Given the description of an element on the screen output the (x, y) to click on. 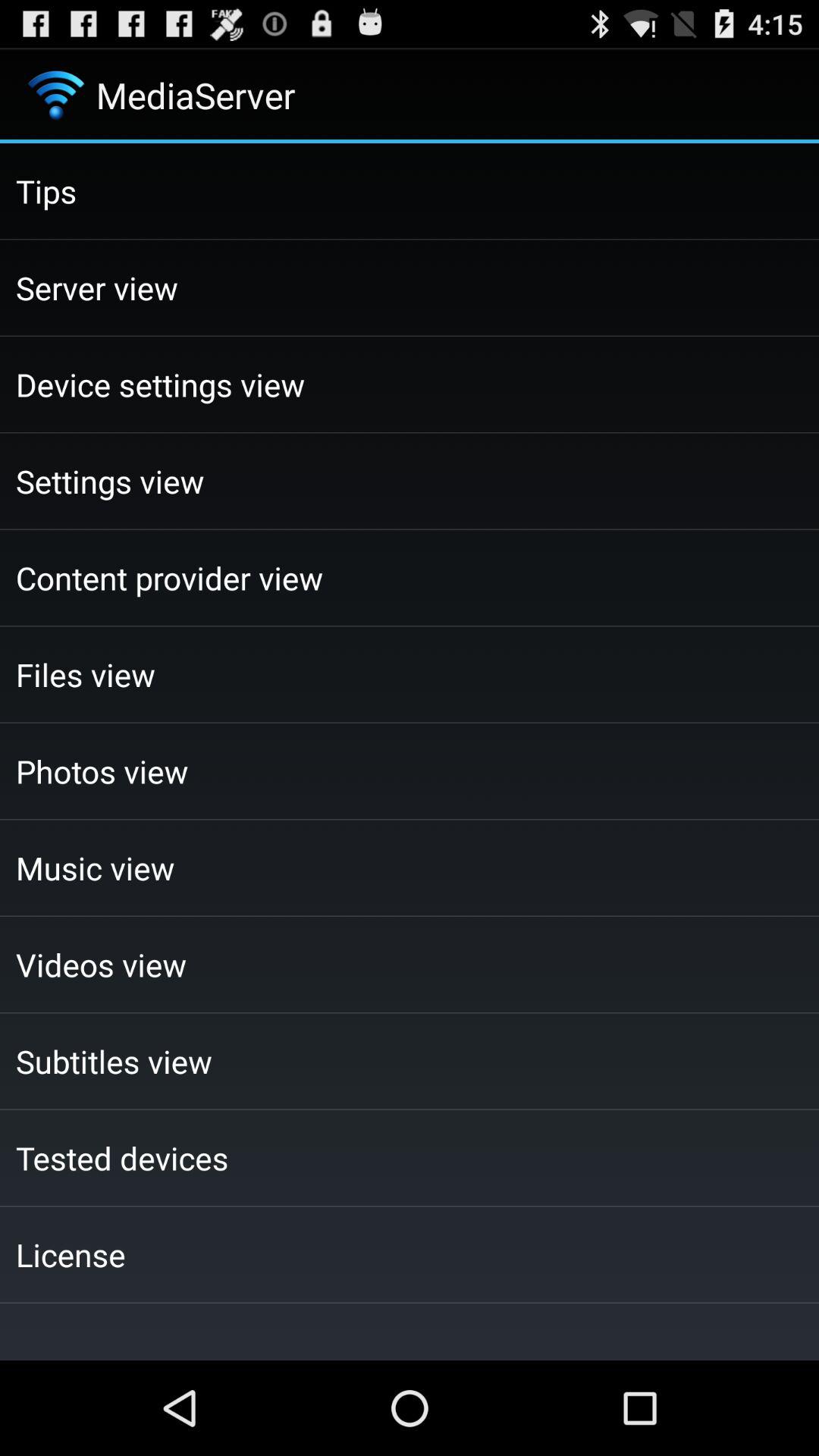
turn off the checkbox below the music view (409, 964)
